Given the description of an element on the screen output the (x, y) to click on. 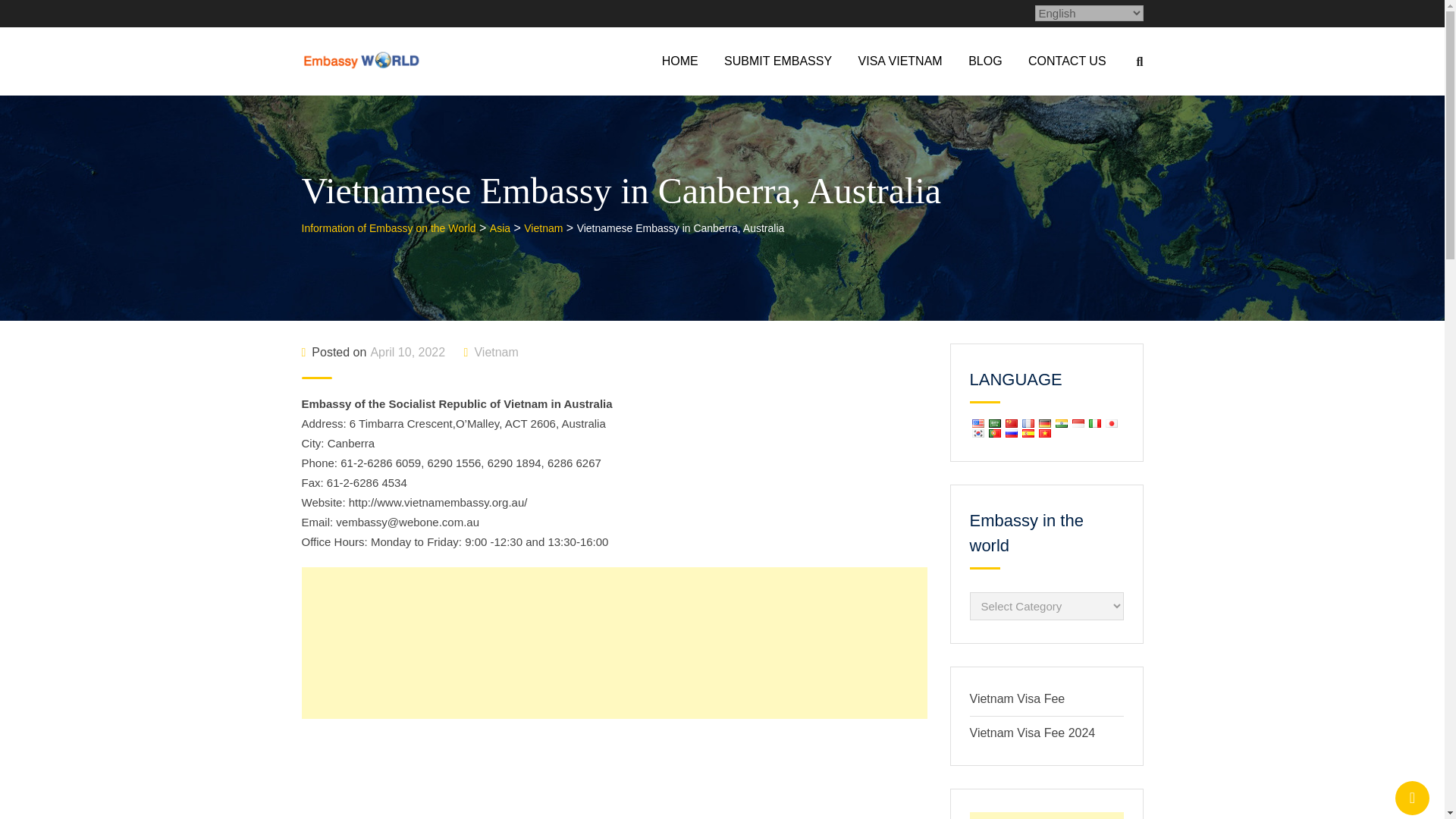
Go to Information of Embassy on the World. (388, 227)
Go to the Asia Category archives. (500, 227)
English (977, 423)
Asia (500, 227)
Vietnam (496, 351)
VISA VIETNAM (900, 61)
CONTACT US (1067, 61)
Advertisement (614, 643)
Vietnam (543, 227)
Go to the Vietnam Category archives. (543, 227)
Information of Embassy on the World (388, 227)
SUBMIT EMBASSY (778, 61)
